Given the description of an element on the screen output the (x, y) to click on. 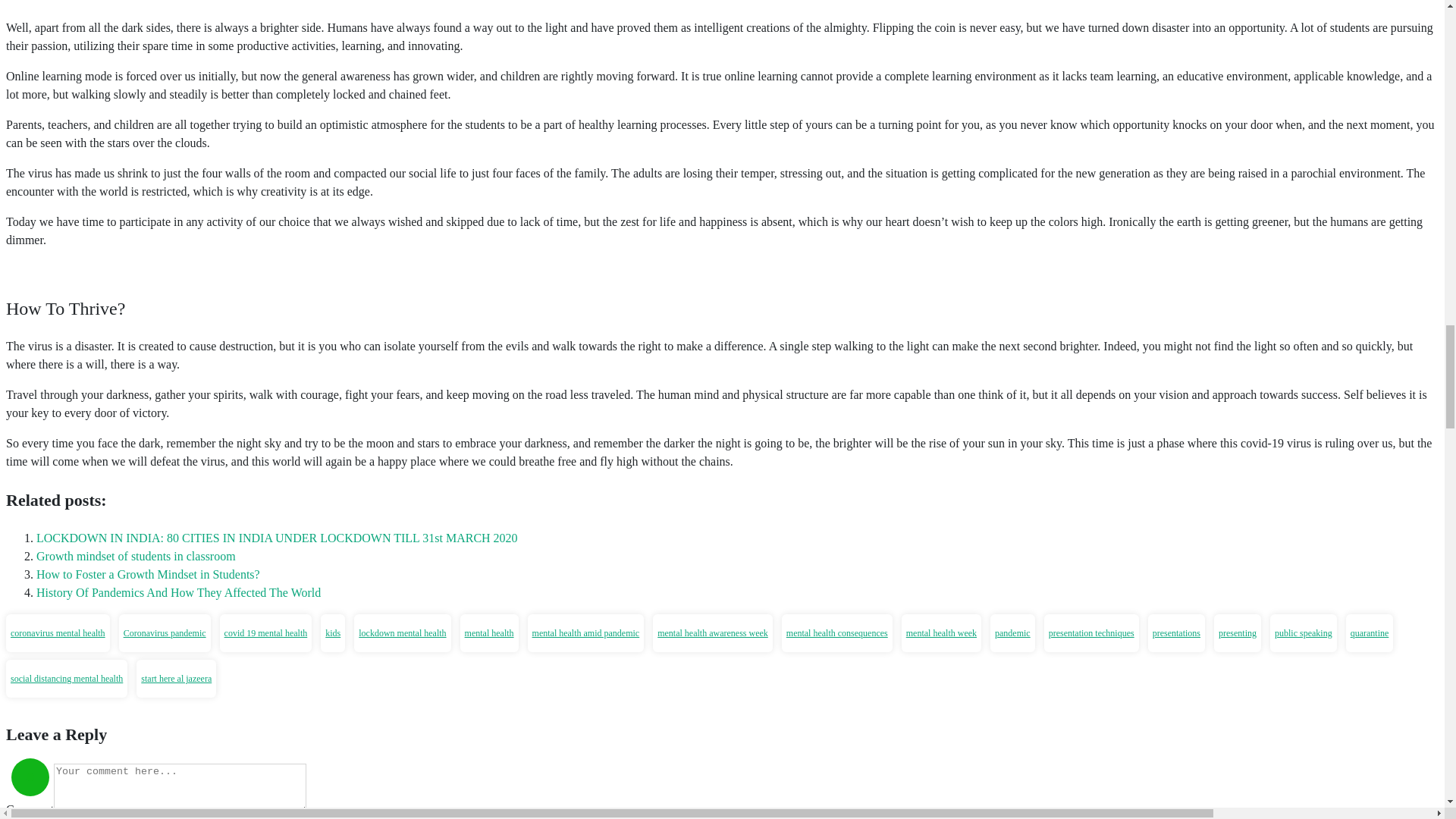
lockdown mental health (401, 632)
pandemic (1012, 632)
mental health amid pandemic (586, 632)
coronavirus mental health (57, 632)
Growth mindset of students in classroom (135, 555)
Coronavirus pandemic (165, 632)
How to Foster a Growth Mindset in Students? (148, 574)
covid 19 mental health (266, 632)
History Of Pandemics And How They Affected The World (178, 592)
mental health week (941, 632)
How to Foster a Growth Mindset in Students? (148, 574)
History Of Pandemics And How They Affected The World (178, 592)
mental health consequences (836, 632)
